Given the description of an element on the screen output the (x, y) to click on. 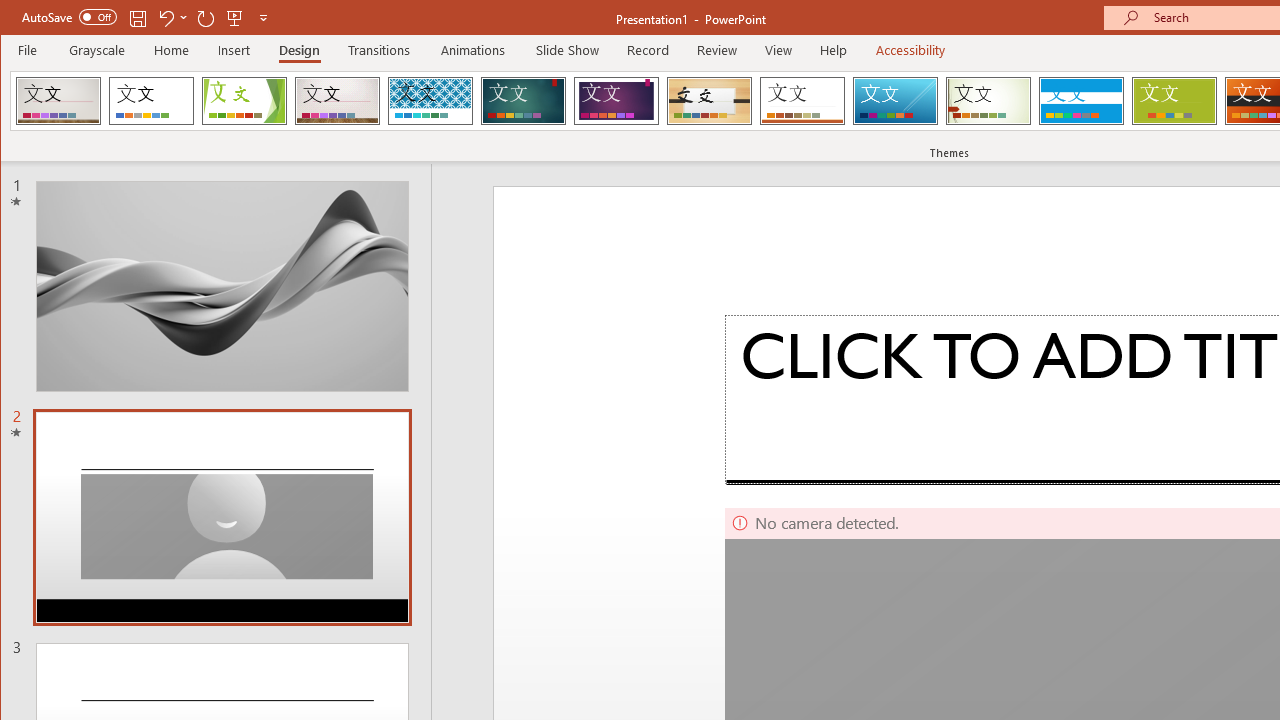
Wisp (988, 100)
Ion Boardroom (616, 100)
Organic (709, 100)
Gallery (337, 100)
